Given the description of an element on the screen output the (x, y) to click on. 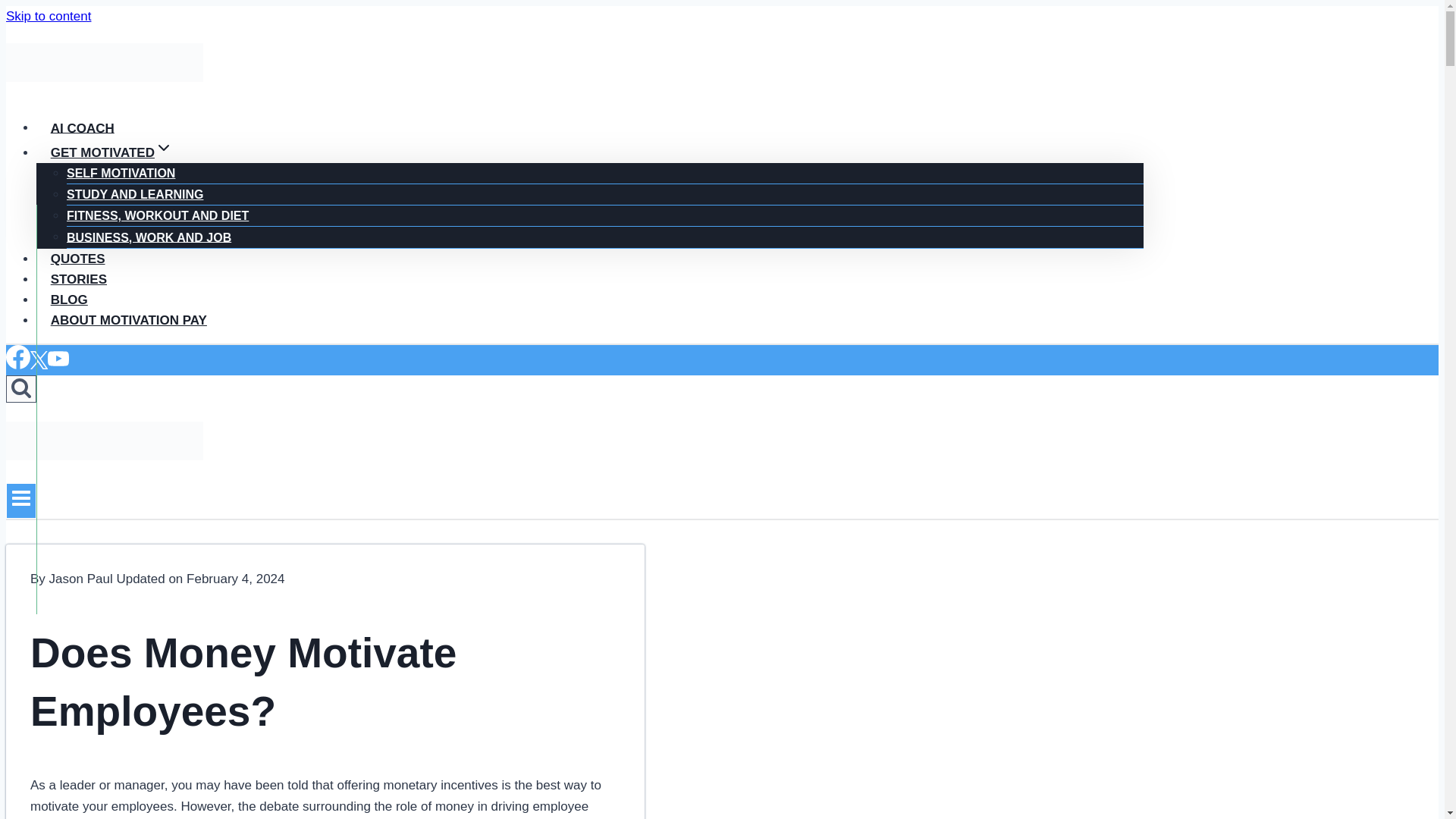
EXPAND (163, 147)
STORIES (78, 279)
Skip to content (47, 16)
Facebook (17, 364)
Skip to content (47, 16)
STUDY AND LEARNING (134, 194)
GET MOTIVATEDEXPAND (111, 152)
FITNESS, WORKOUT AND DIET (157, 215)
YouTube (58, 364)
QUOTES (77, 258)
